Given the description of an element on the screen output the (x, y) to click on. 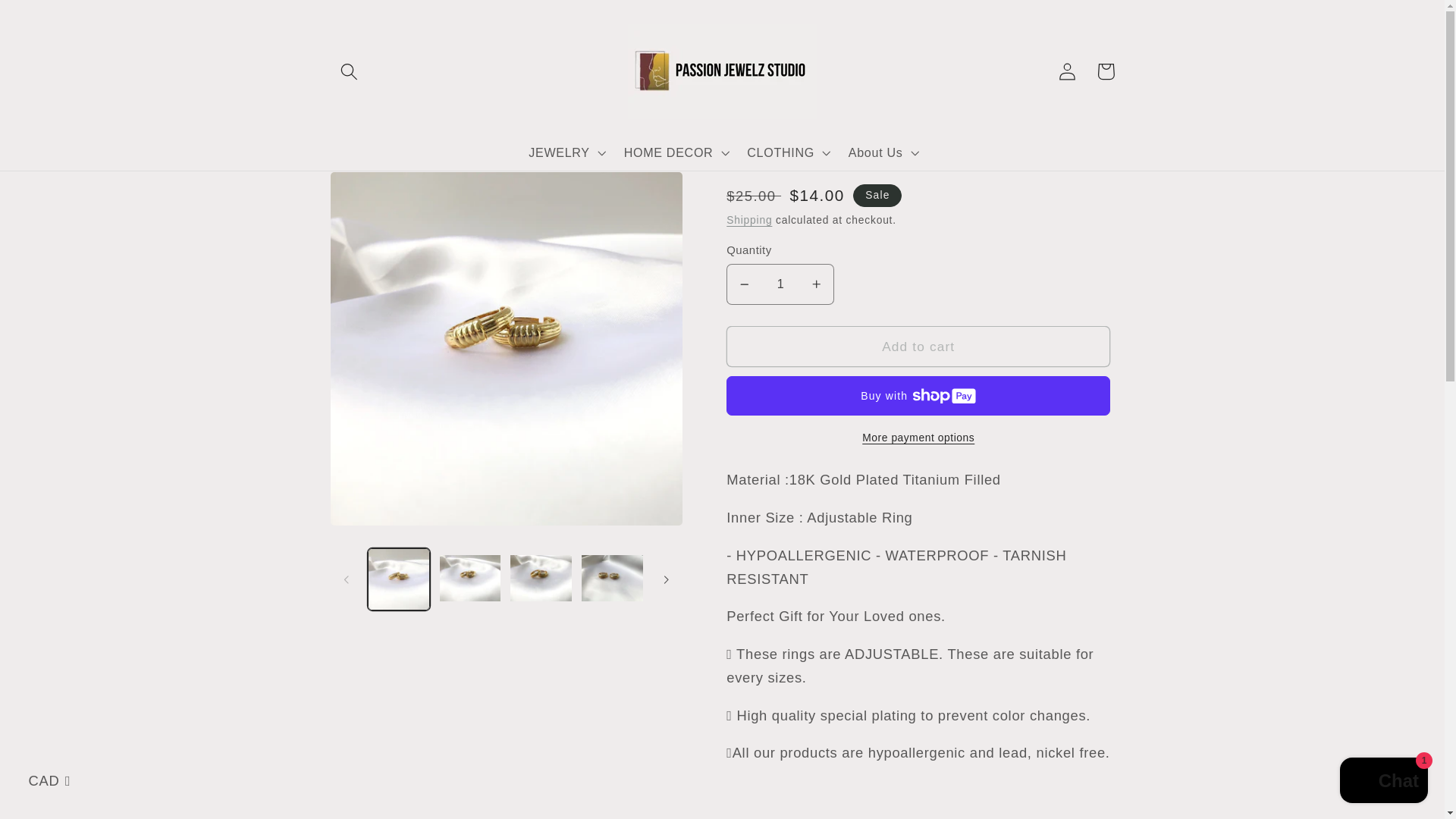
Skip to content (52, 20)
1 (780, 283)
Shopify online store chat (1383, 781)
